Given the description of an element on the screen output the (x, y) to click on. 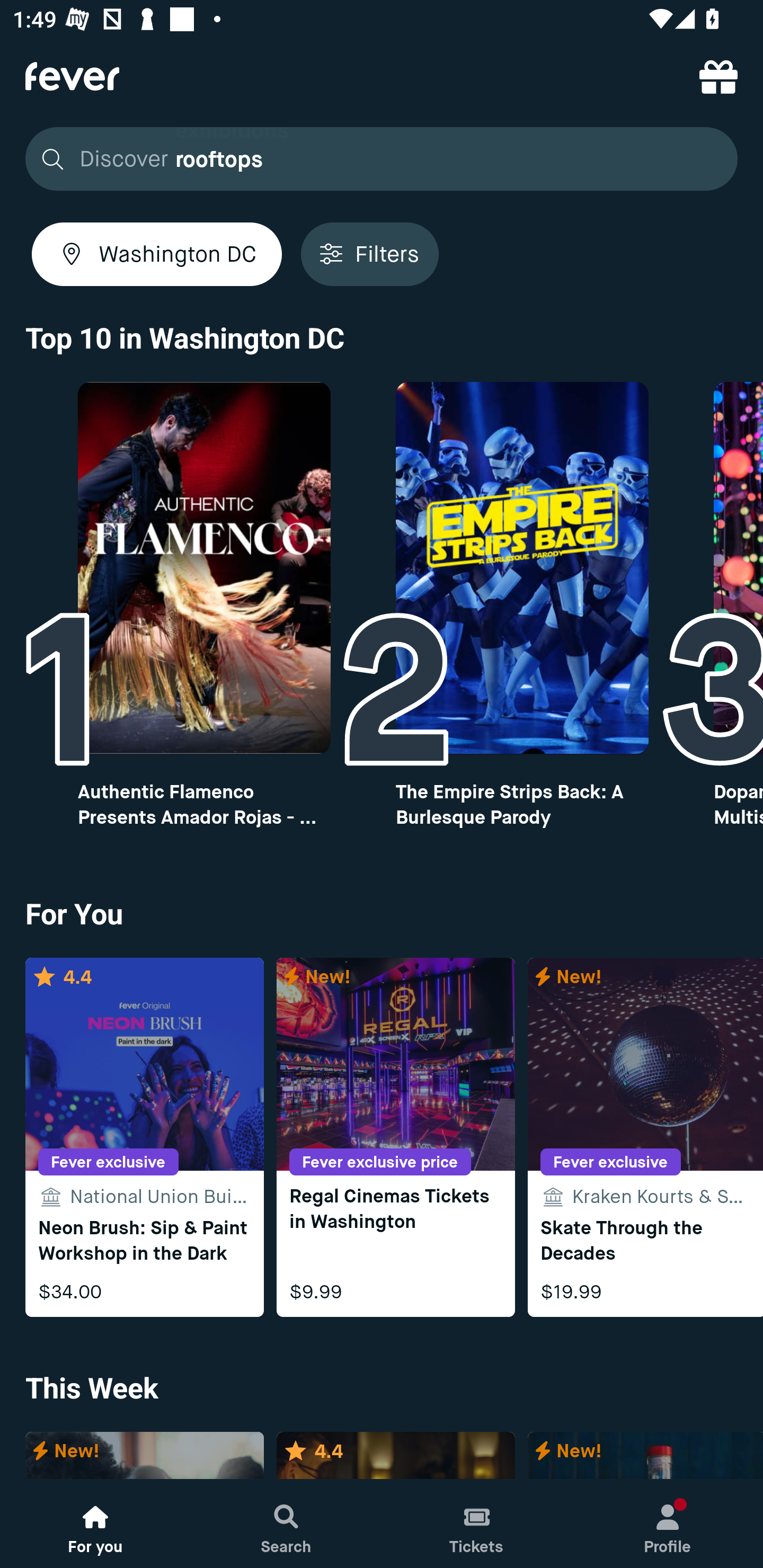
referral (718, 75)
Discover exhibitions rooftops (381, 158)
Discover exhibitions rooftops (376, 158)
Washington DC (156, 253)
Filters (369, 253)
Top10 image (203, 568)
Top10 image (521, 568)
Search (285, 1523)
Tickets (476, 1523)
Profile, New notification Profile (667, 1523)
